Given the description of an element on the screen output the (x, y) to click on. 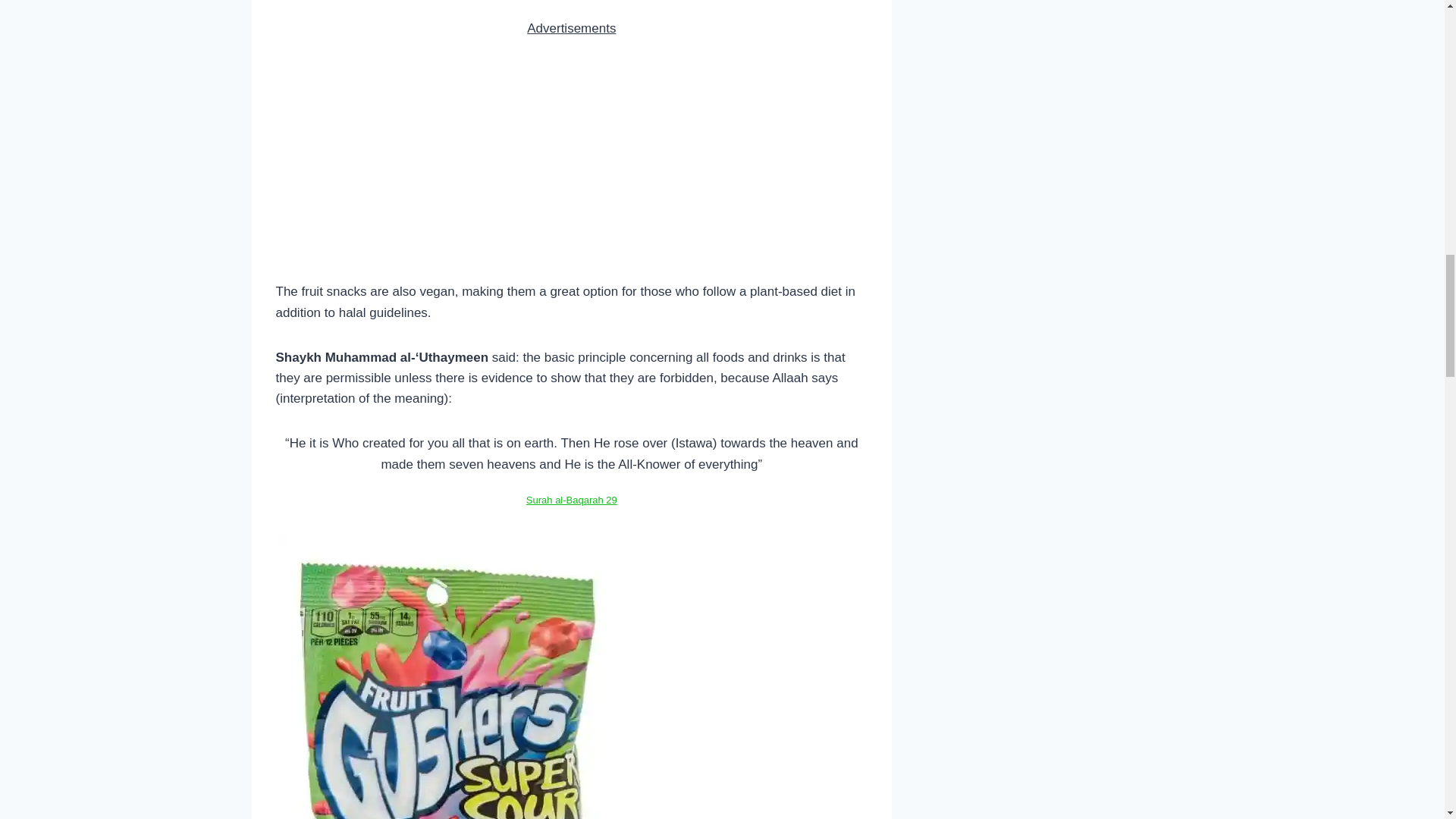
Surah al-Baqarah 29 (571, 500)
